Given the description of an element on the screen output the (x, y) to click on. 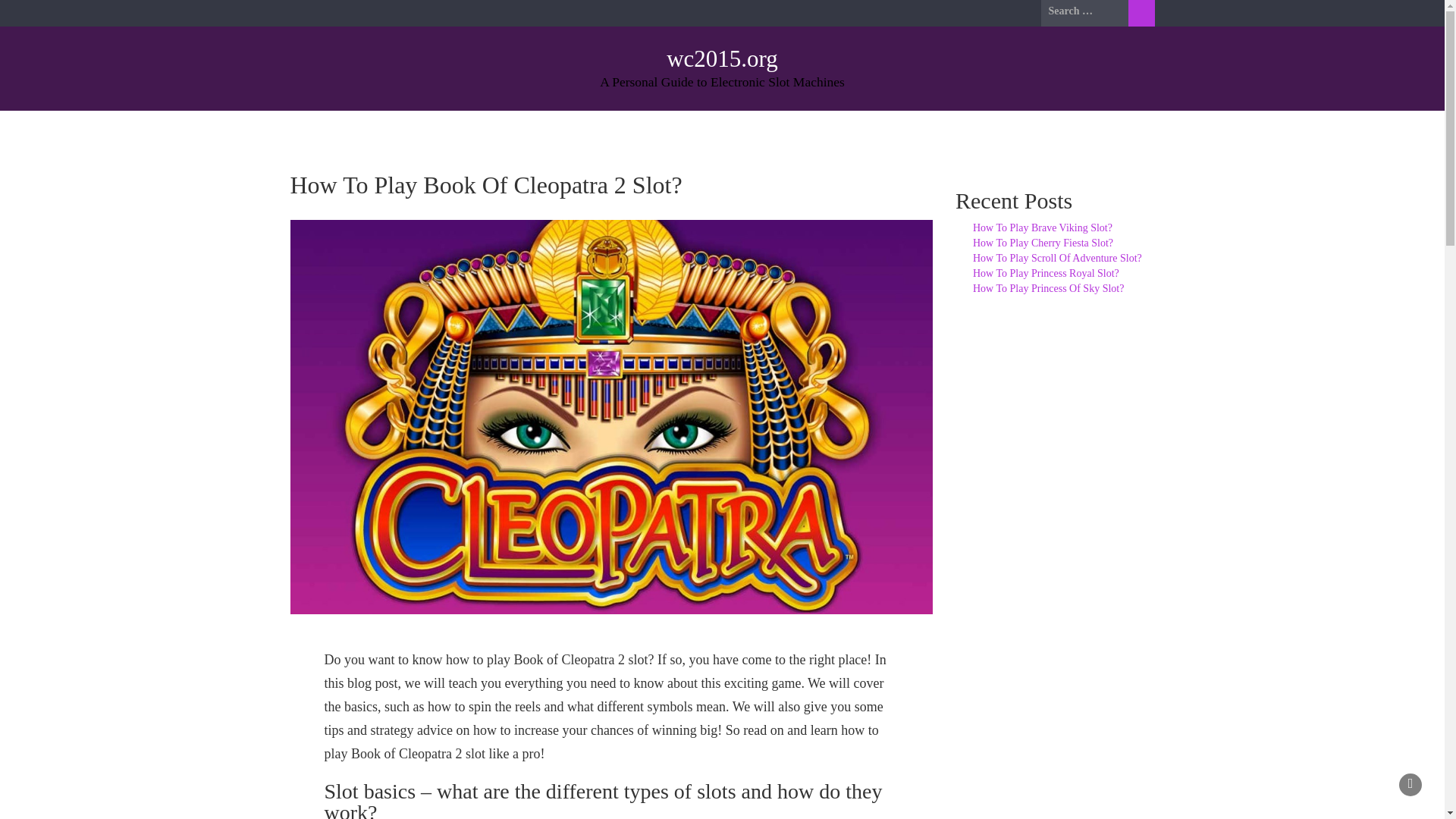
How To Play Cherry Fiesta Slot? (1042, 242)
How To Play Princess Royal Slot? (1045, 273)
How To Play Princess Of Sky Slot? (1048, 288)
How To Play Brave Viking Slot? (1042, 227)
Search (1141, 13)
Search for: (1083, 11)
How To Play Scroll Of Adventure Slot? (1056, 257)
Search (1141, 13)
wc2015.org (721, 58)
Search (1141, 13)
